Given the description of an element on the screen output the (x, y) to click on. 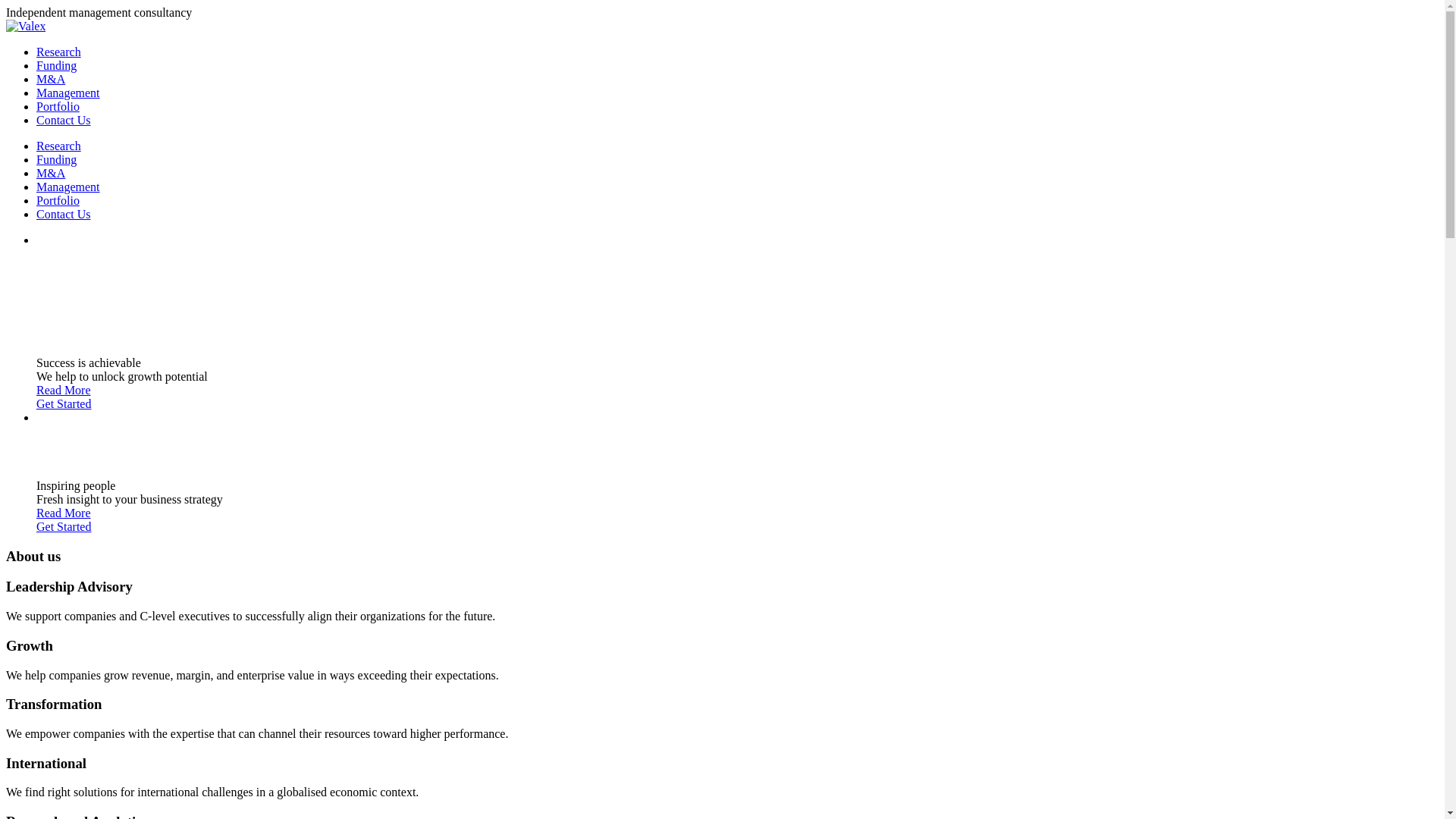
Portfolio Element type: text (57, 200)
M&A Element type: text (50, 78)
Read More Element type: text (63, 389)
Research Element type: text (58, 145)
Research Element type: text (58, 51)
Funding Element type: text (56, 65)
Management Element type: text (68, 92)
Get Started Element type: text (63, 403)
Contact Us Element type: text (63, 213)
Management Element type: text (68, 186)
Contact Us Element type: text (63, 119)
M&A Element type: text (50, 172)
Get Started Element type: text (63, 526)
Portfolio Element type: text (57, 106)
Read More Element type: text (63, 512)
Funding Element type: text (56, 159)
